Given the description of an element on the screen output the (x, y) to click on. 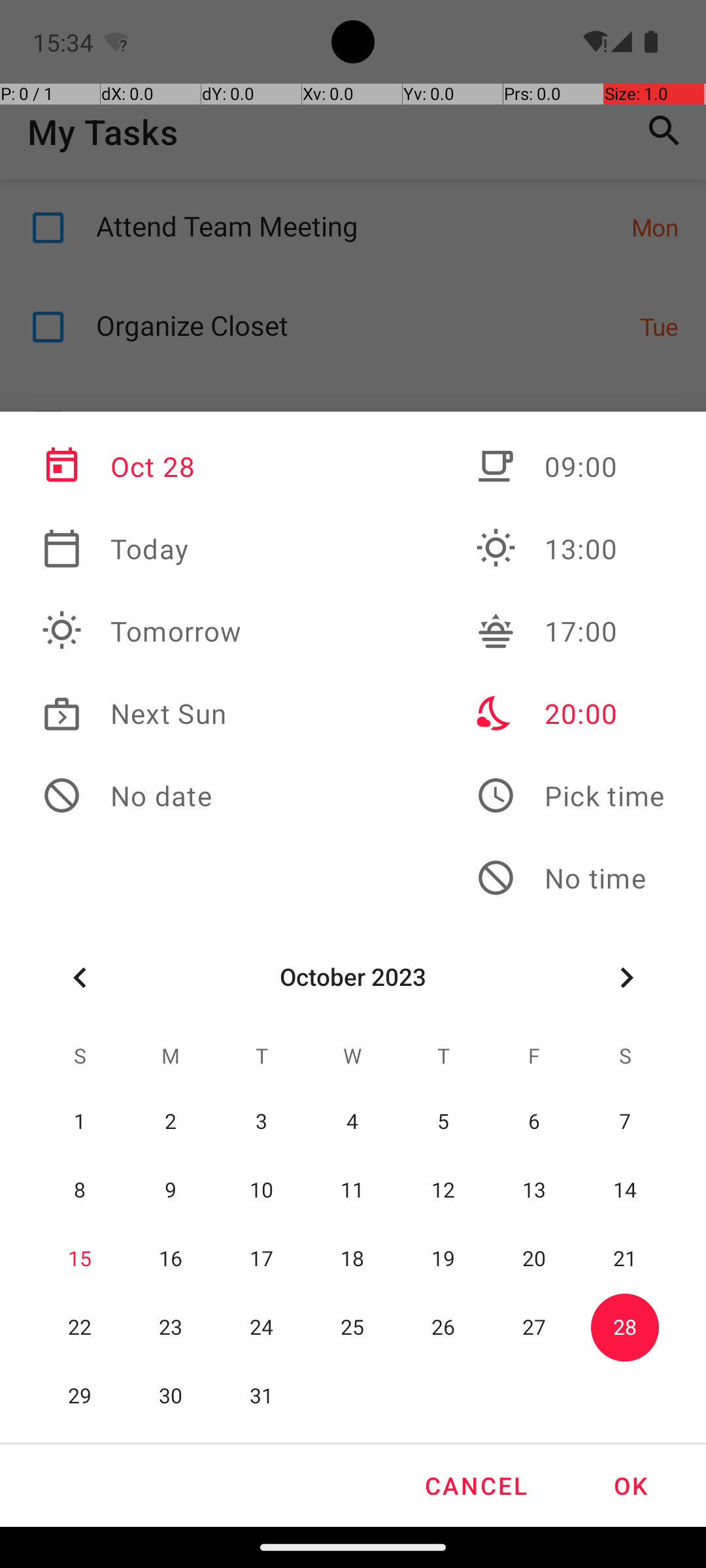
Oct 28 Element type: android.widget.CompoundButton (141, 466)
